Given the description of an element on the screen output the (x, y) to click on. 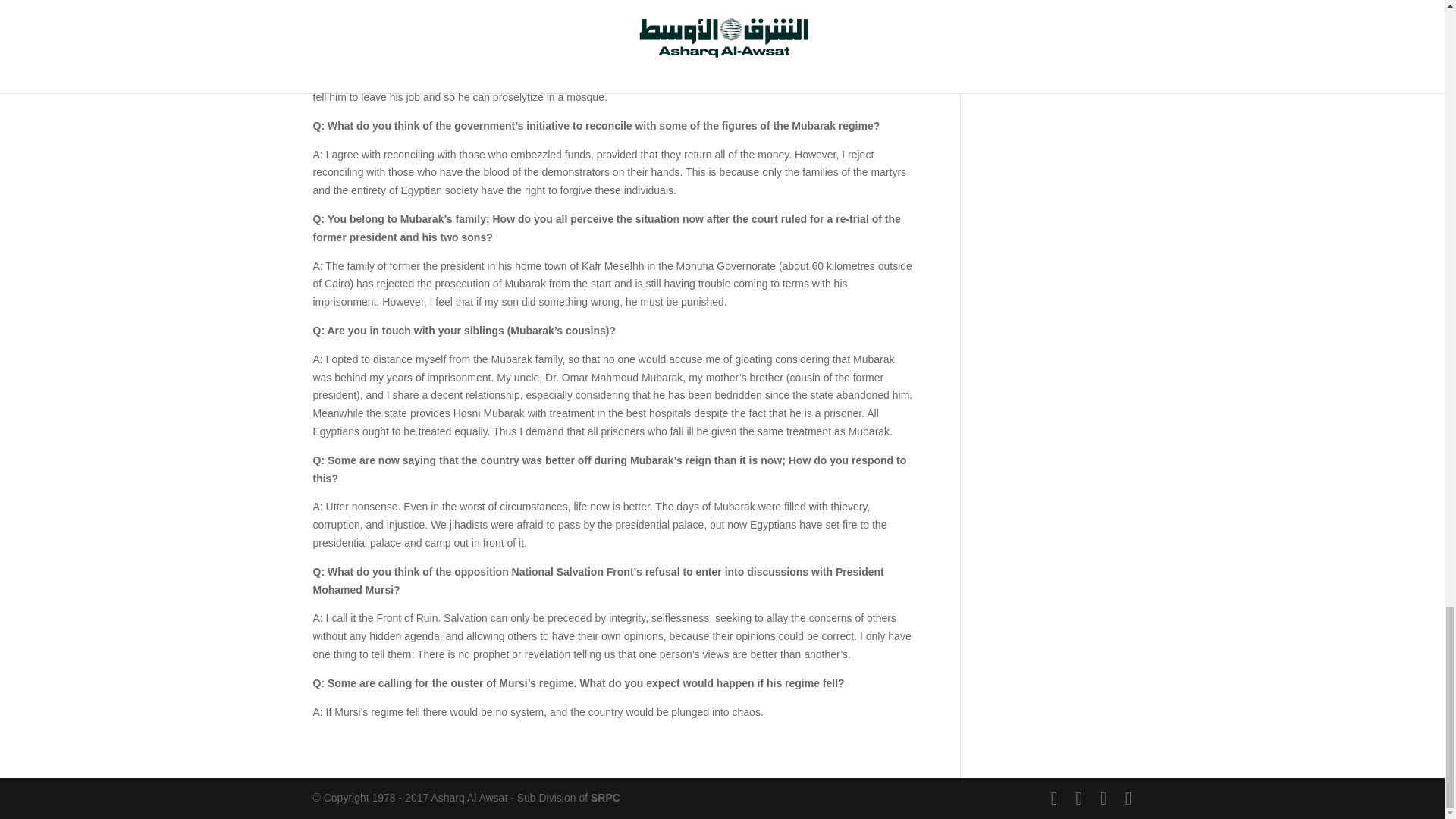
SRPC (605, 797)
